Given the description of an element on the screen output the (x, y) to click on. 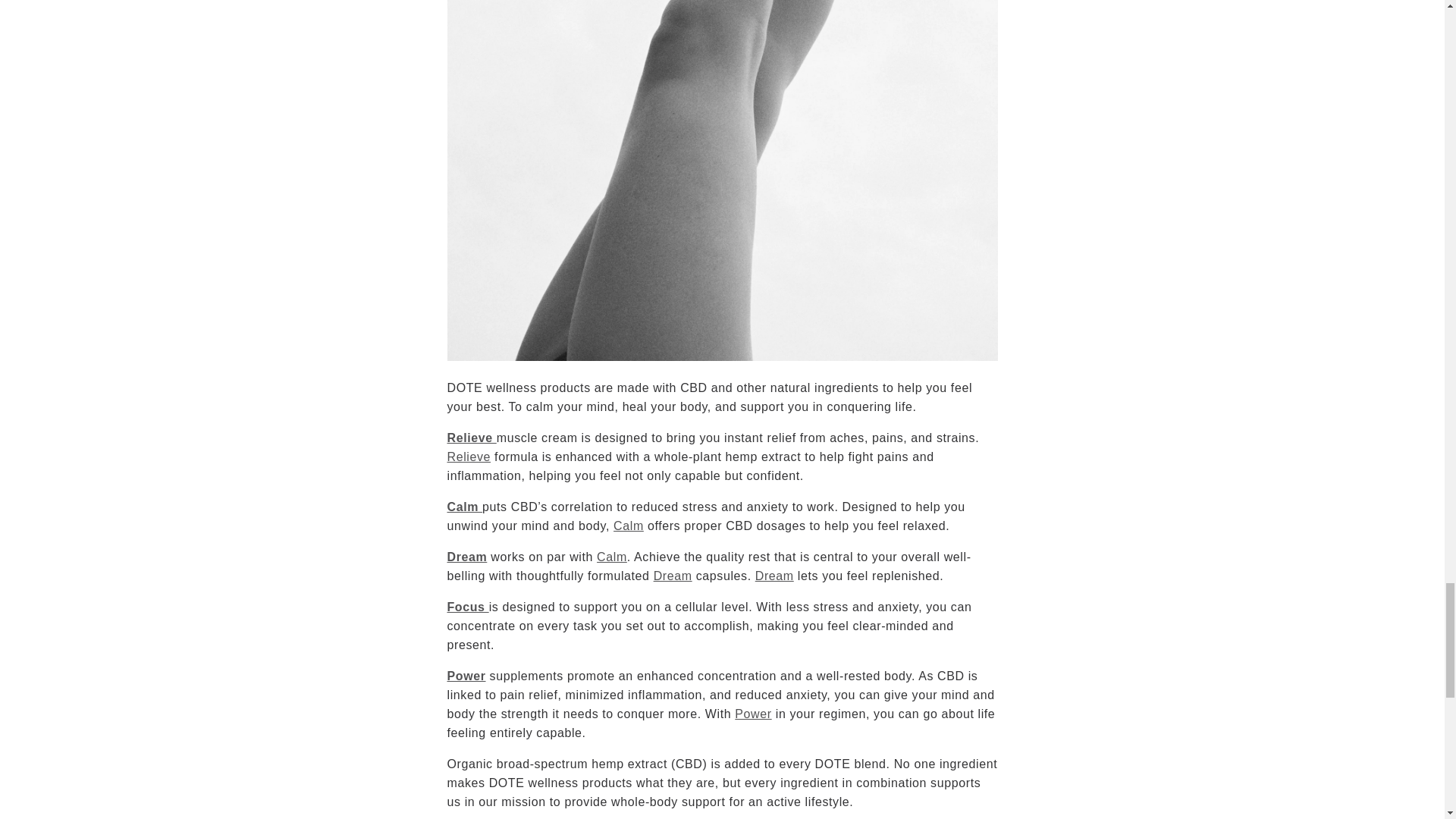
Dream (466, 556)
Calm (464, 506)
Focus (467, 606)
Relieve (471, 437)
Dream (673, 575)
Relieve (469, 456)
Power (753, 713)
Dream (774, 575)
Calm (611, 556)
Calm (627, 525)
